Given the description of an element on the screen output the (x, y) to click on. 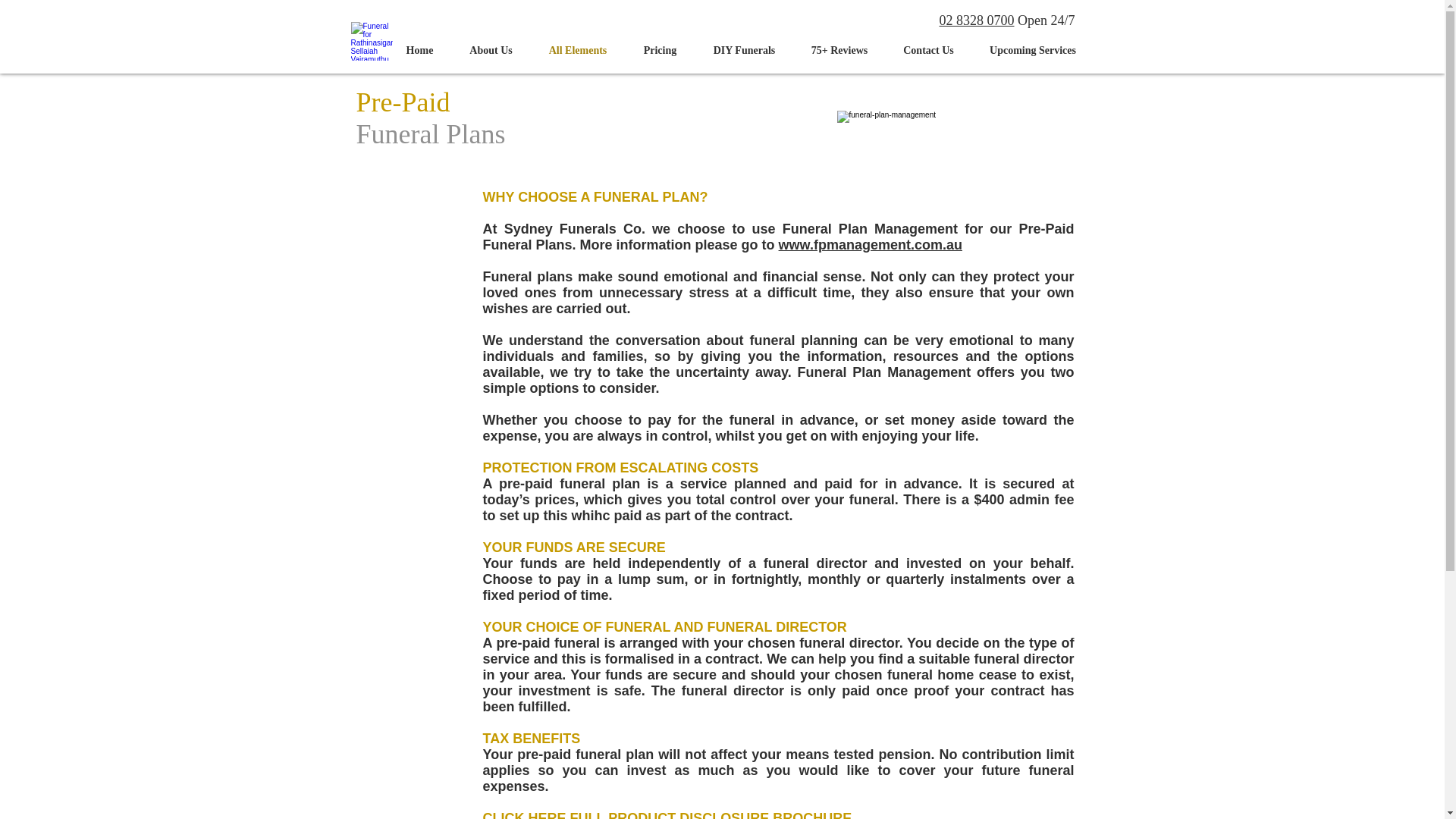
02 8328 0700 (976, 20)
Pricing (659, 50)
CLICK HERE FULL PRODUCT DISCLOSURE BROCHURE (666, 814)
www.fpmanagement.com.au (870, 244)
All Elements (578, 50)
Upcoming Services (1033, 50)
Home (419, 50)
About Us (491, 50)
DIY Funerals (743, 50)
Contact Us (928, 50)
